Given the description of an element on the screen output the (x, y) to click on. 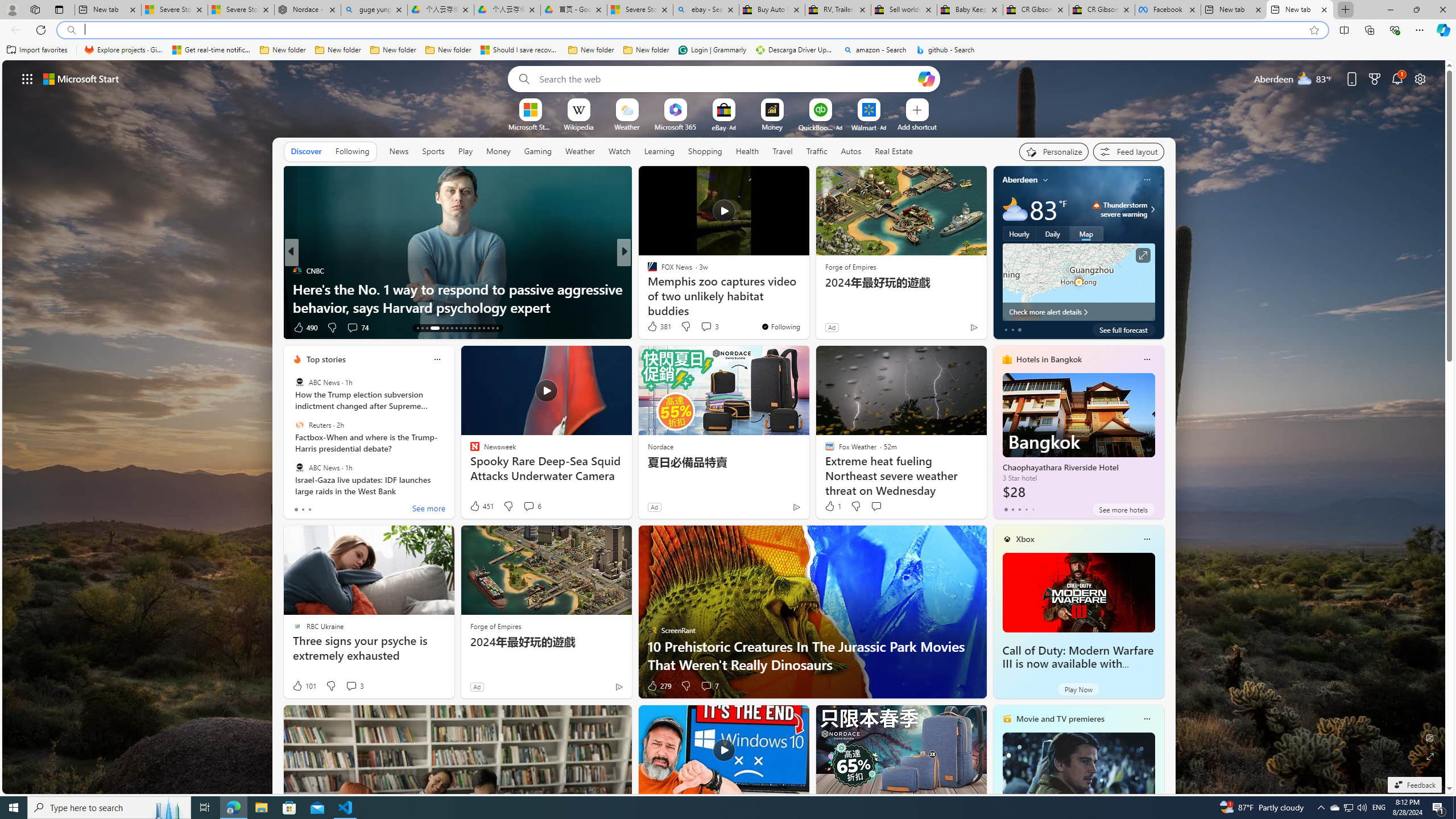
Class: icon-img (1146, 718)
CNN (647, 270)
Spotlight Feature (647, 270)
View comments 19 Comment (704, 327)
View comments 2 Comment (702, 327)
tab-4 (1032, 509)
